Given the description of an element on the screen output the (x, y) to click on. 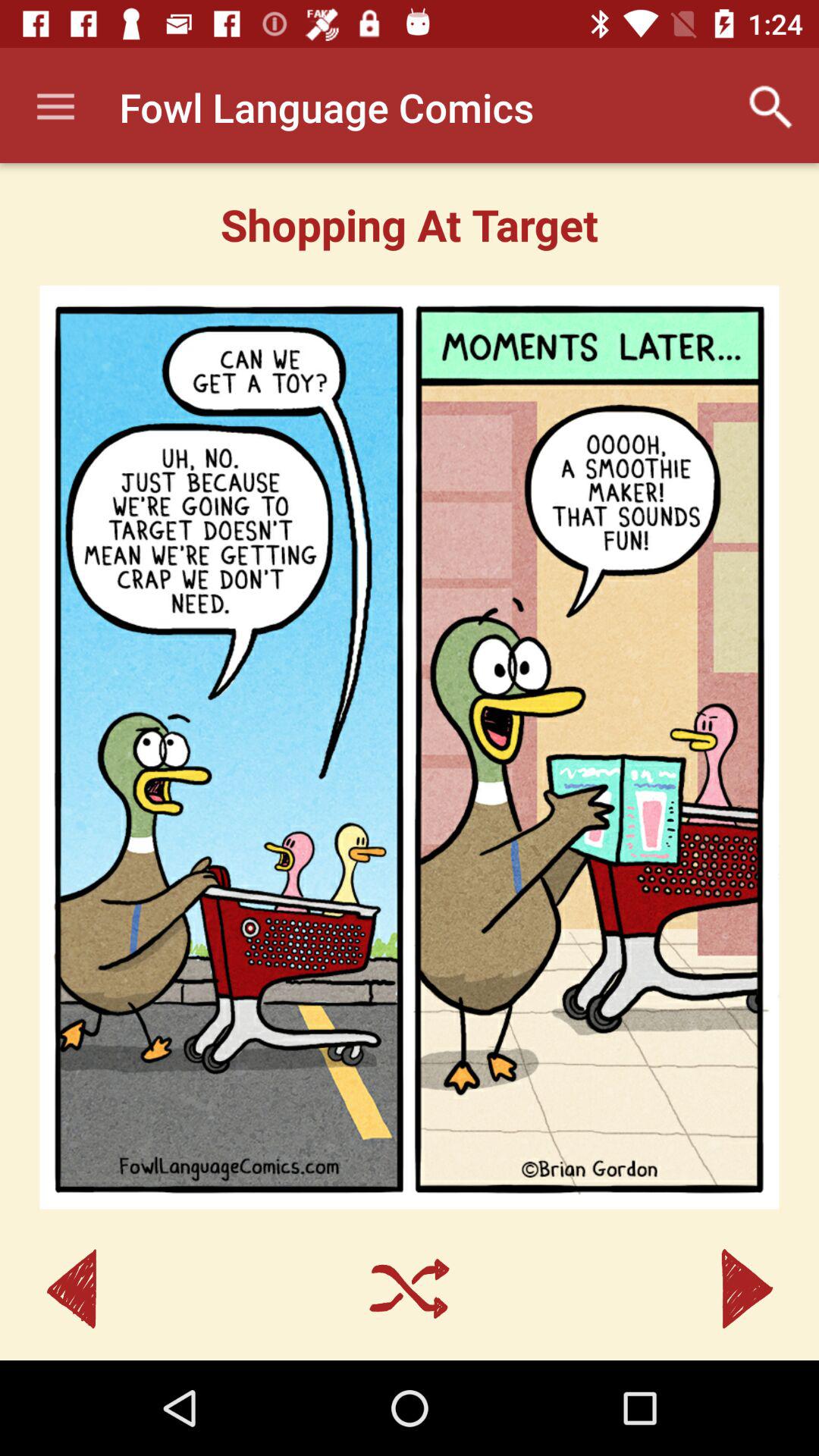
click the item to the right of the fowl language comics app (771, 107)
